Given the description of an element on the screen output the (x, y) to click on. 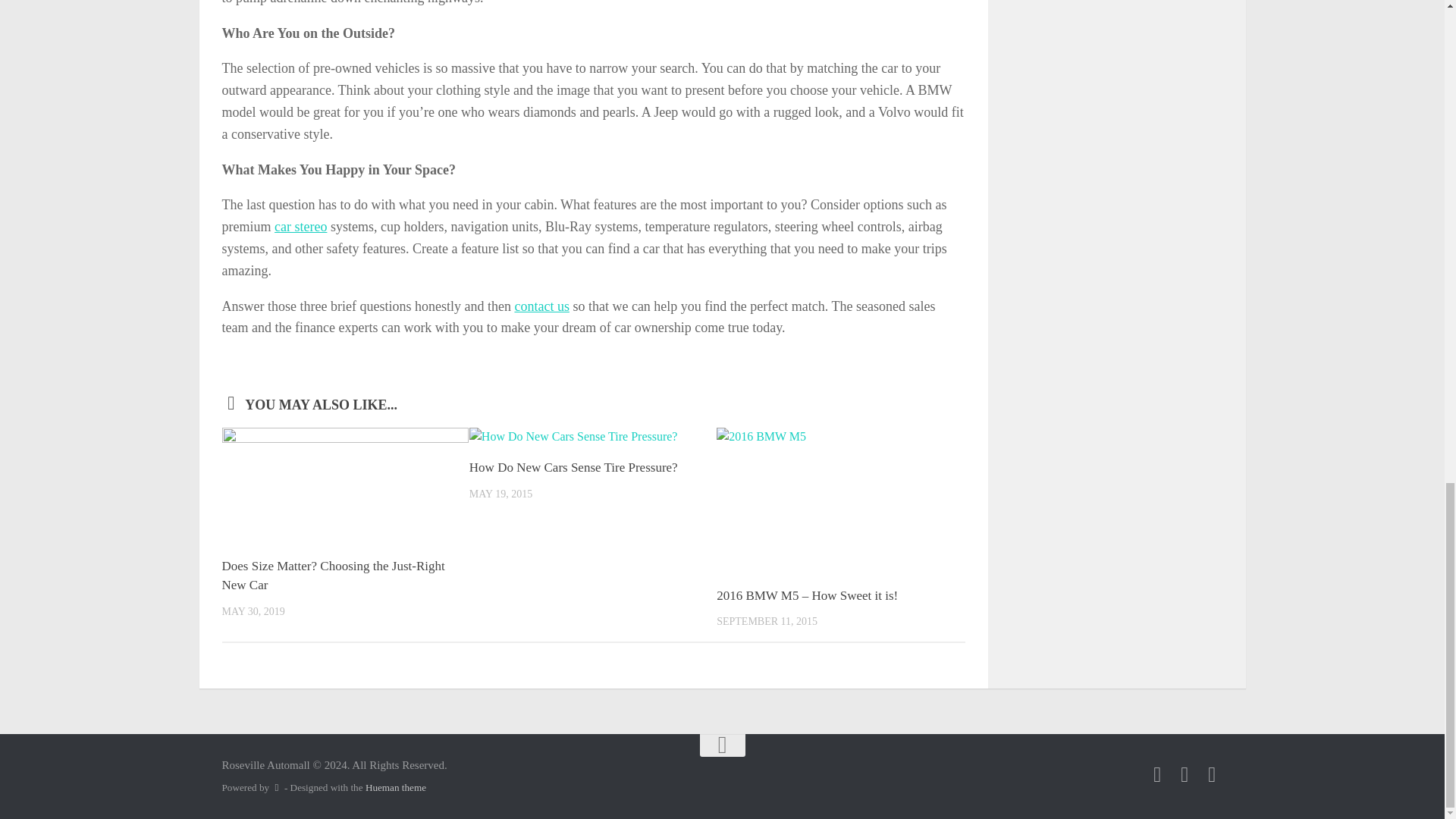
Follow us on Youtube (1212, 774)
Follow us on Facebook (1157, 774)
car stereo (300, 226)
contact us (541, 305)
Powered by WordPress (275, 787)
Hueman theme (395, 787)
Does Size Matter? Choosing the Just-Right New Car (332, 575)
How Do New Cars Sense Tire Pressure? (573, 467)
